Given the description of an element on the screen output the (x, y) to click on. 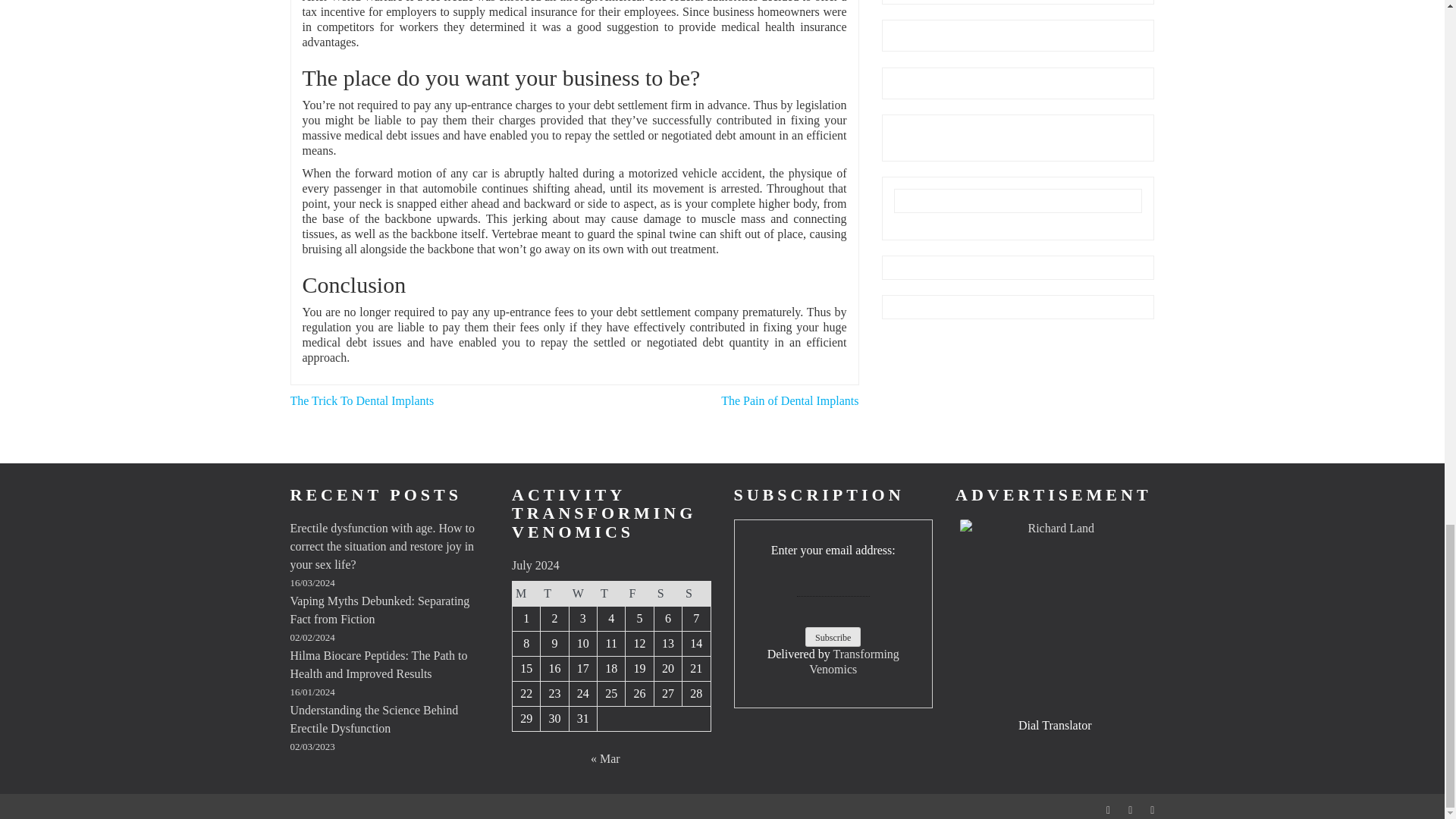
Monday (526, 593)
Tuesday (554, 593)
Saturday (667, 593)
Subscribe (832, 637)
Wednesday (582, 593)
Friday (639, 593)
Thursday (611, 593)
The Pain of Dental Implants (789, 400)
The Trick To Dental Implants (361, 400)
Sunday (696, 593)
